Given the description of an element on the screen output the (x, y) to click on. 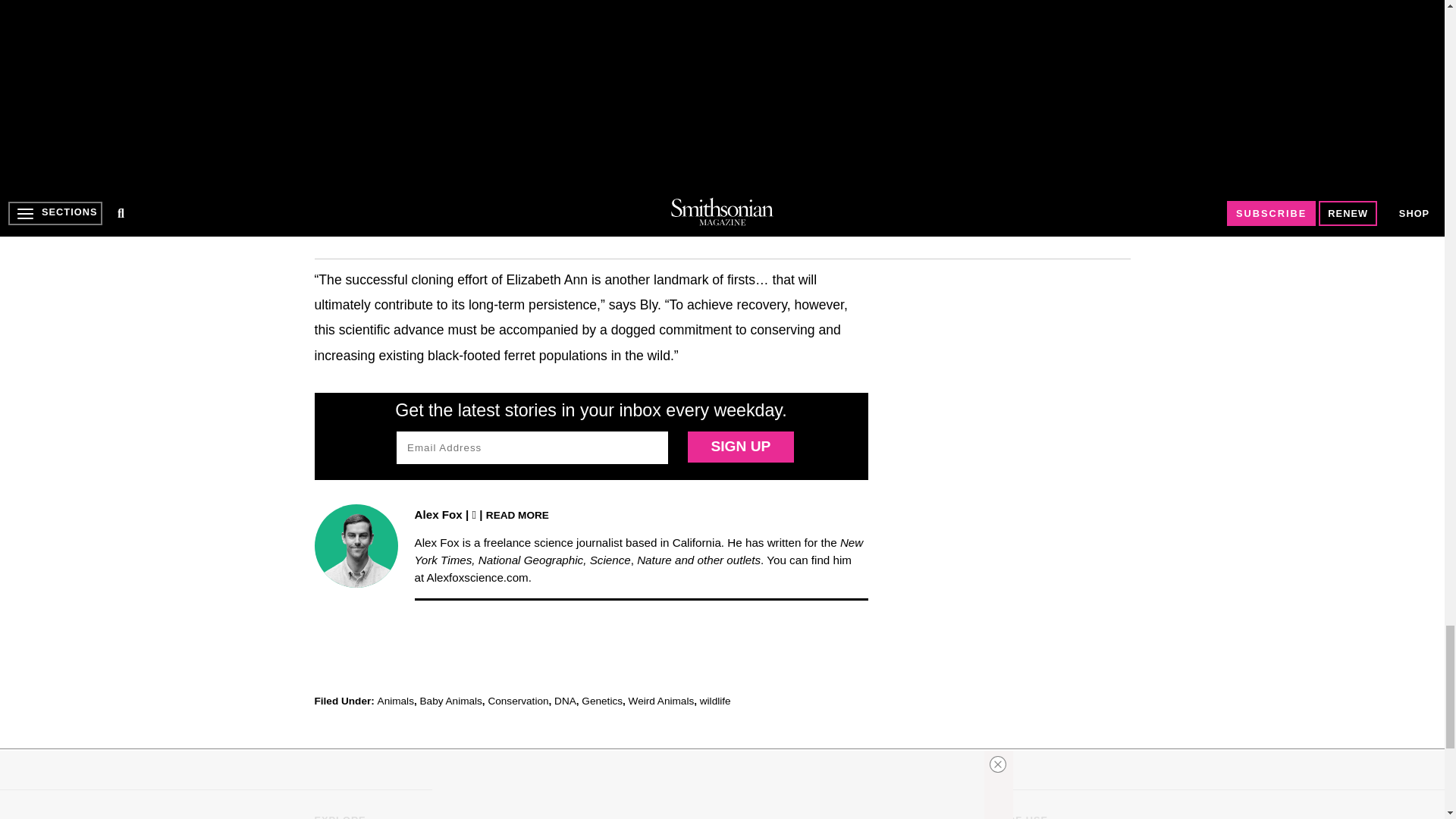
Sign Up (740, 446)
Read more from this author (517, 513)
